Given the description of an element on the screen output the (x, y) to click on. 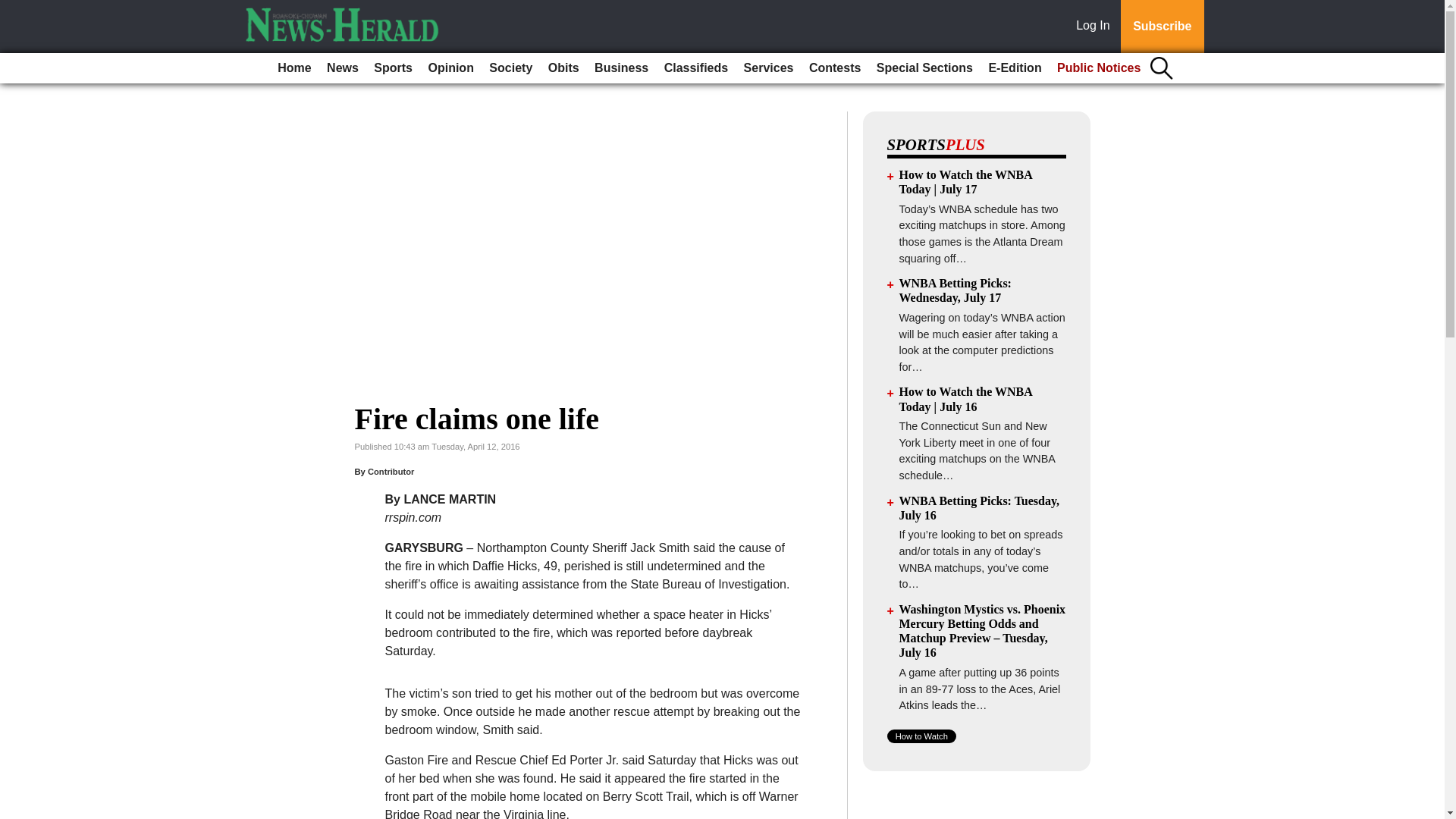
Special Sections (924, 68)
News (342, 68)
E-Edition (1013, 68)
Classifieds (695, 68)
Business (620, 68)
Opinion (450, 68)
Contributor (391, 470)
Services (768, 68)
Go (13, 9)
Obits (563, 68)
Public Notices (1099, 68)
Home (293, 68)
Society (510, 68)
Subscribe (1162, 26)
Contests (834, 68)
